Given the description of an element on the screen output the (x, y) to click on. 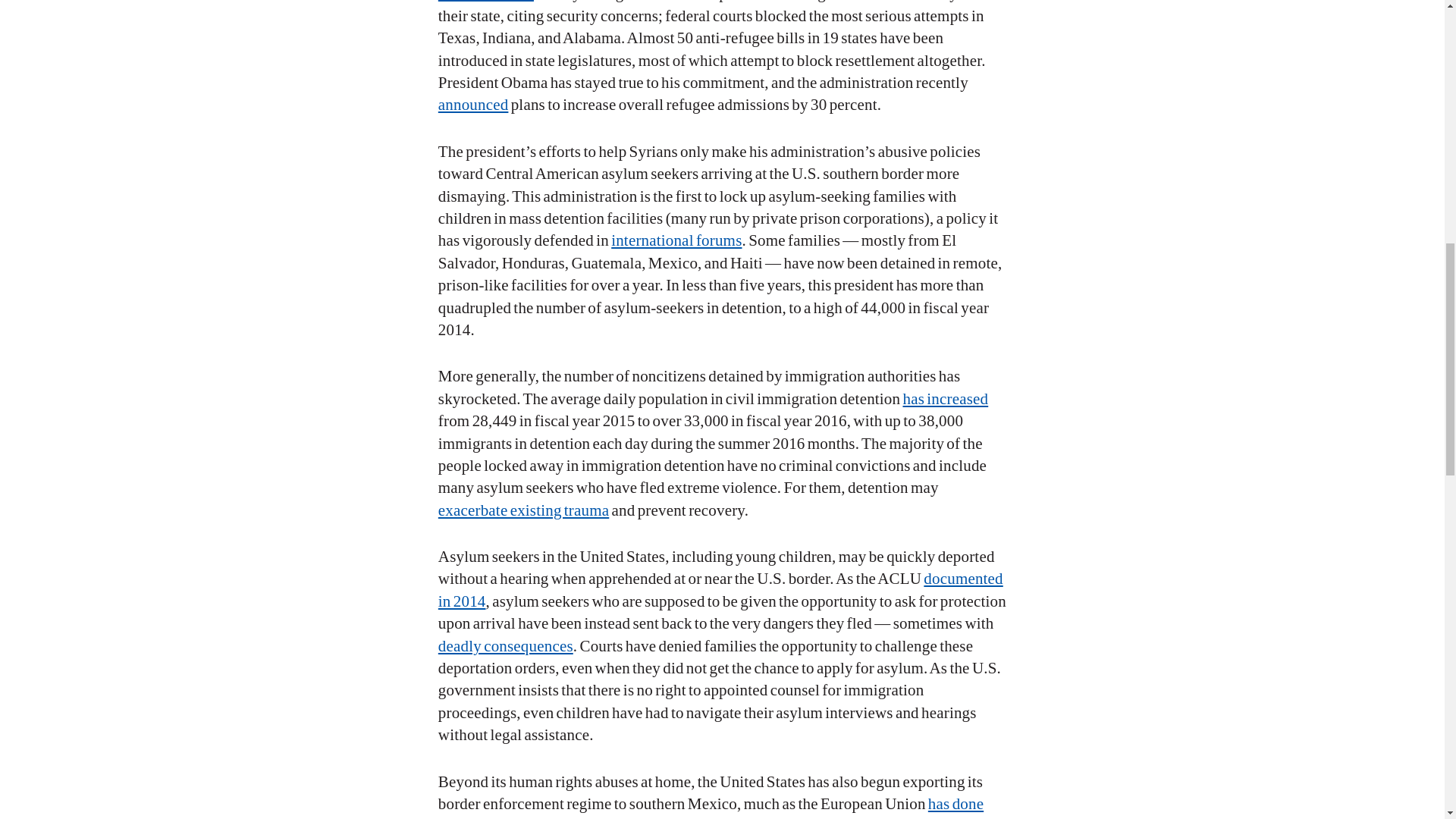
Libya, Morocco, and Ukraine (562, 817)
documented in 2014 (720, 589)
international forums (676, 239)
has done (956, 803)
nativist attacks (486, 1)
exacerbate existing trauma (523, 510)
announced (473, 104)
has increased (945, 398)
deadly consequences (505, 646)
